Given the description of an element on the screen output the (x, y) to click on. 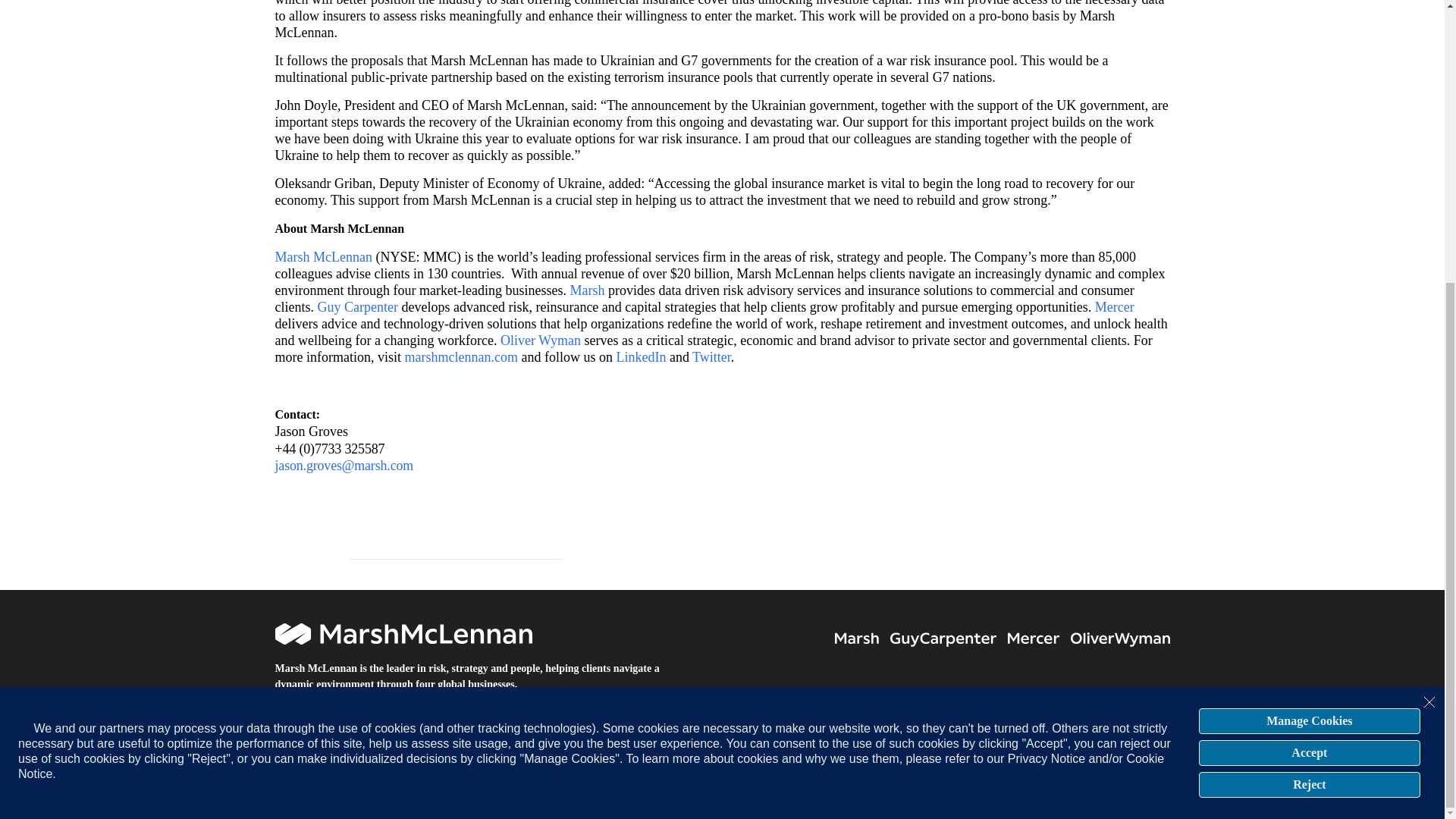
Accept (1309, 329)
Reject (1309, 361)
Manage Cookies (1309, 298)
